Given the description of an element on the screen output the (x, y) to click on. 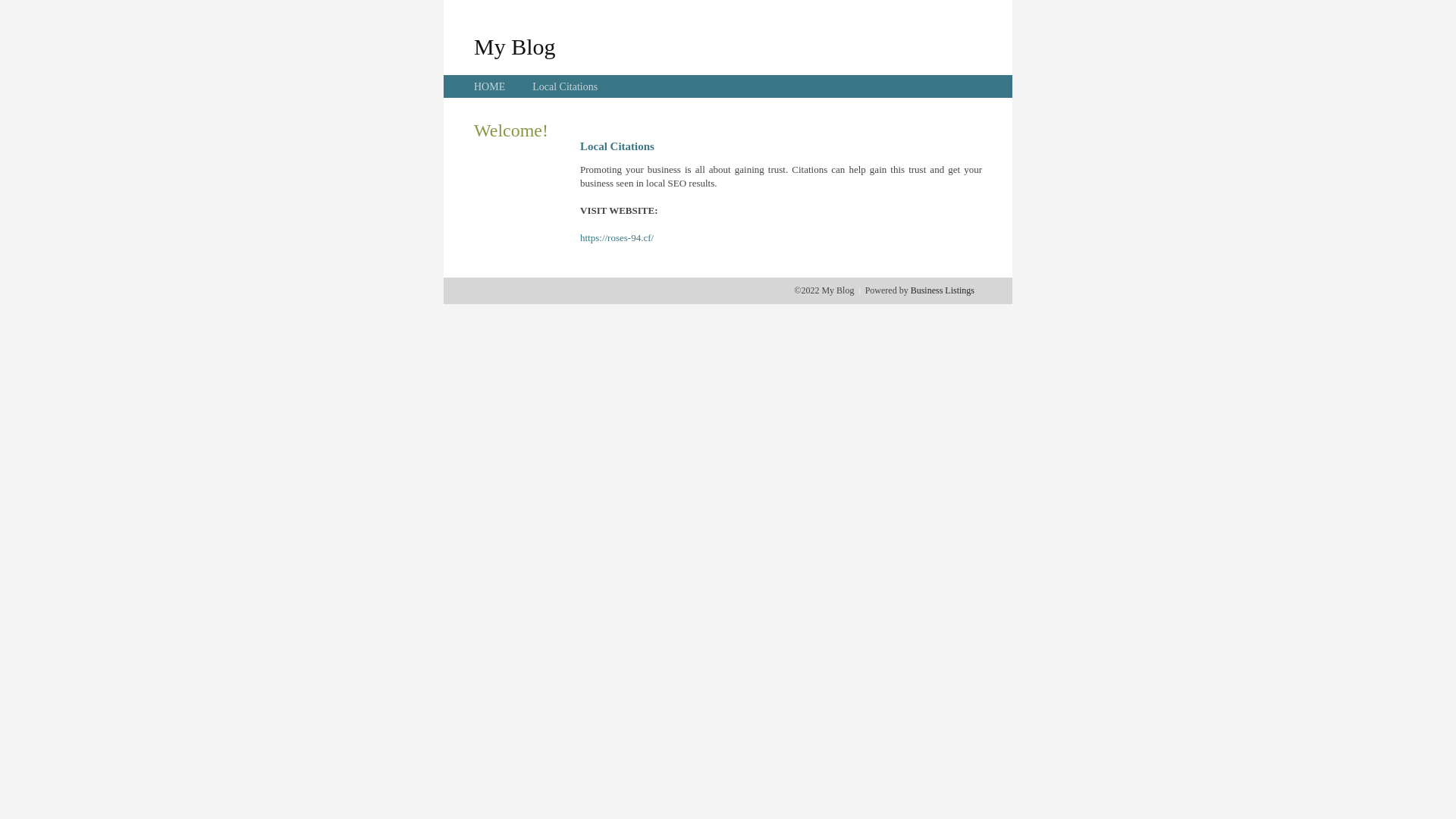
HOME Element type: text (489, 86)
Business Listings Element type: text (942, 290)
My Blog Element type: text (514, 46)
https://roses-94.cf/ Element type: text (616, 237)
Local Citations Element type: text (564, 86)
